Given the description of an element on the screen output the (x, y) to click on. 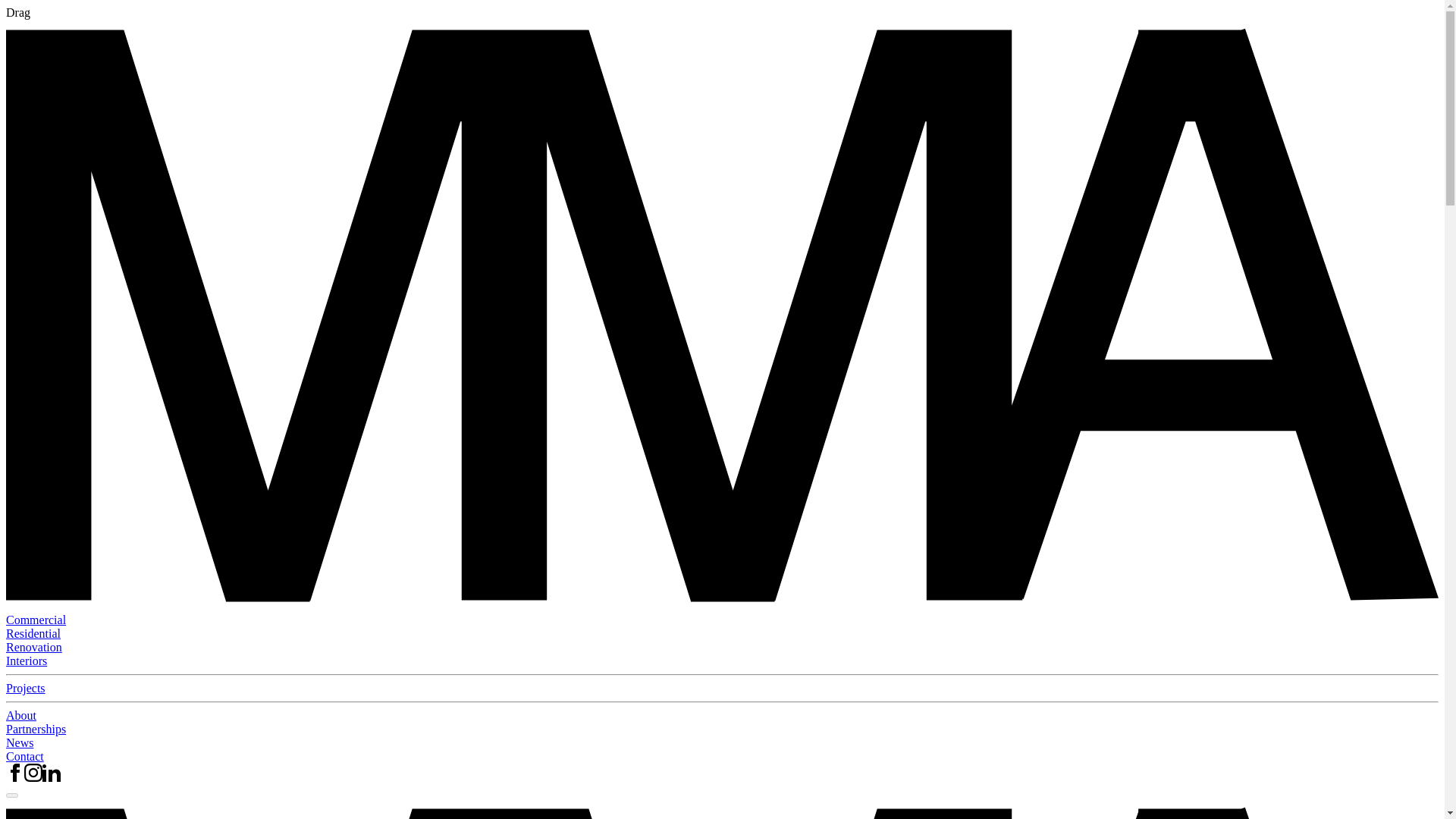
Residential (33, 633)
Renovation (33, 646)
Partnerships (35, 728)
About (20, 715)
Interiors (25, 660)
Commercial (35, 619)
Contact (24, 756)
Projects (25, 687)
News (19, 742)
